Given the description of an element on the screen output the (x, y) to click on. 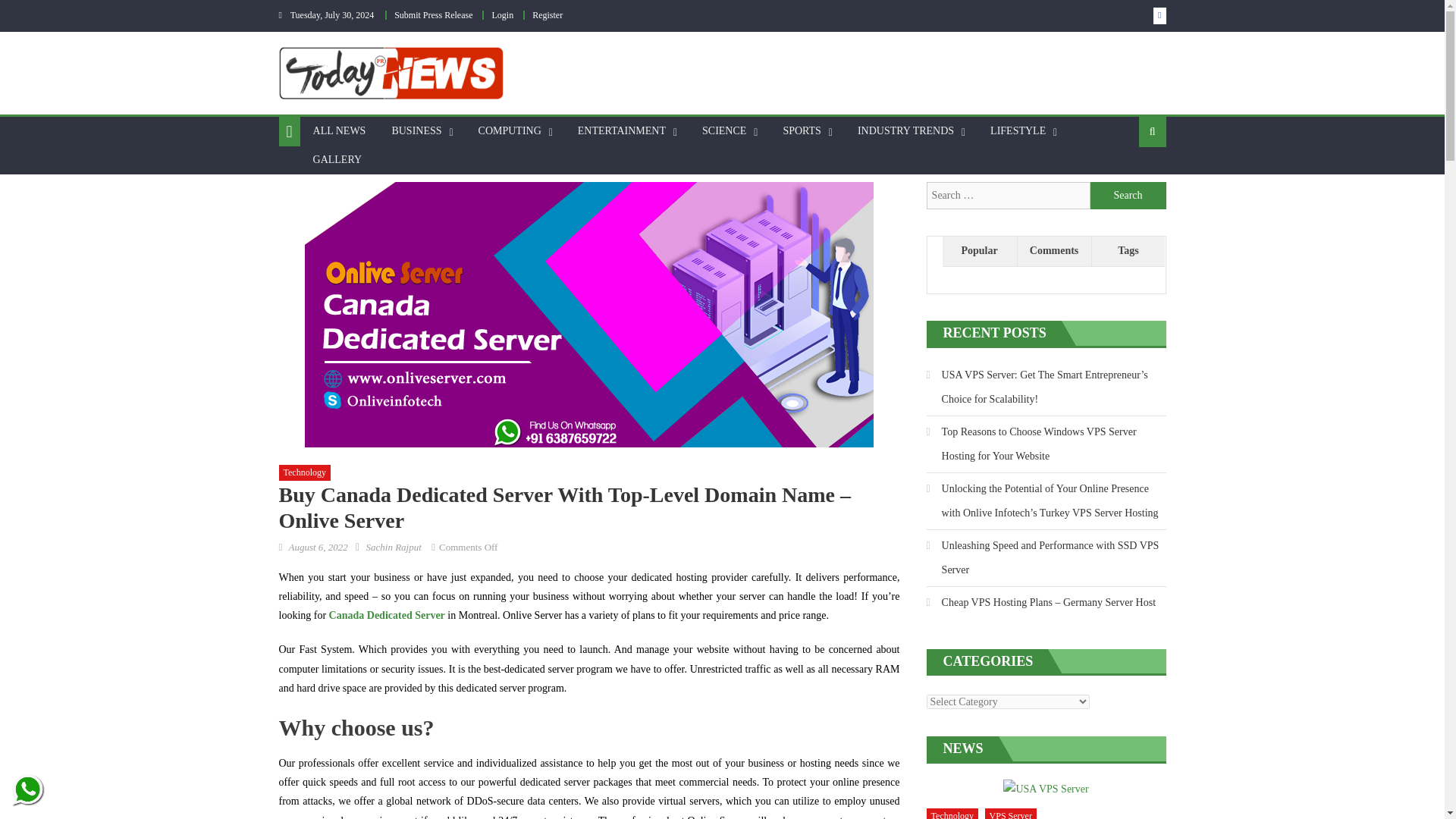
Search (1128, 195)
COMPUTING (510, 131)
ALL NEWS (339, 131)
SCIENCE (723, 131)
SPORTS (801, 131)
INDUSTRY TRENDS (905, 131)
Search (1128, 195)
Submit Press Release (432, 14)
ENTERTAINMENT (621, 131)
Register (547, 14)
Login (502, 14)
BUSINESS (416, 131)
